Given the description of an element on the screen output the (x, y) to click on. 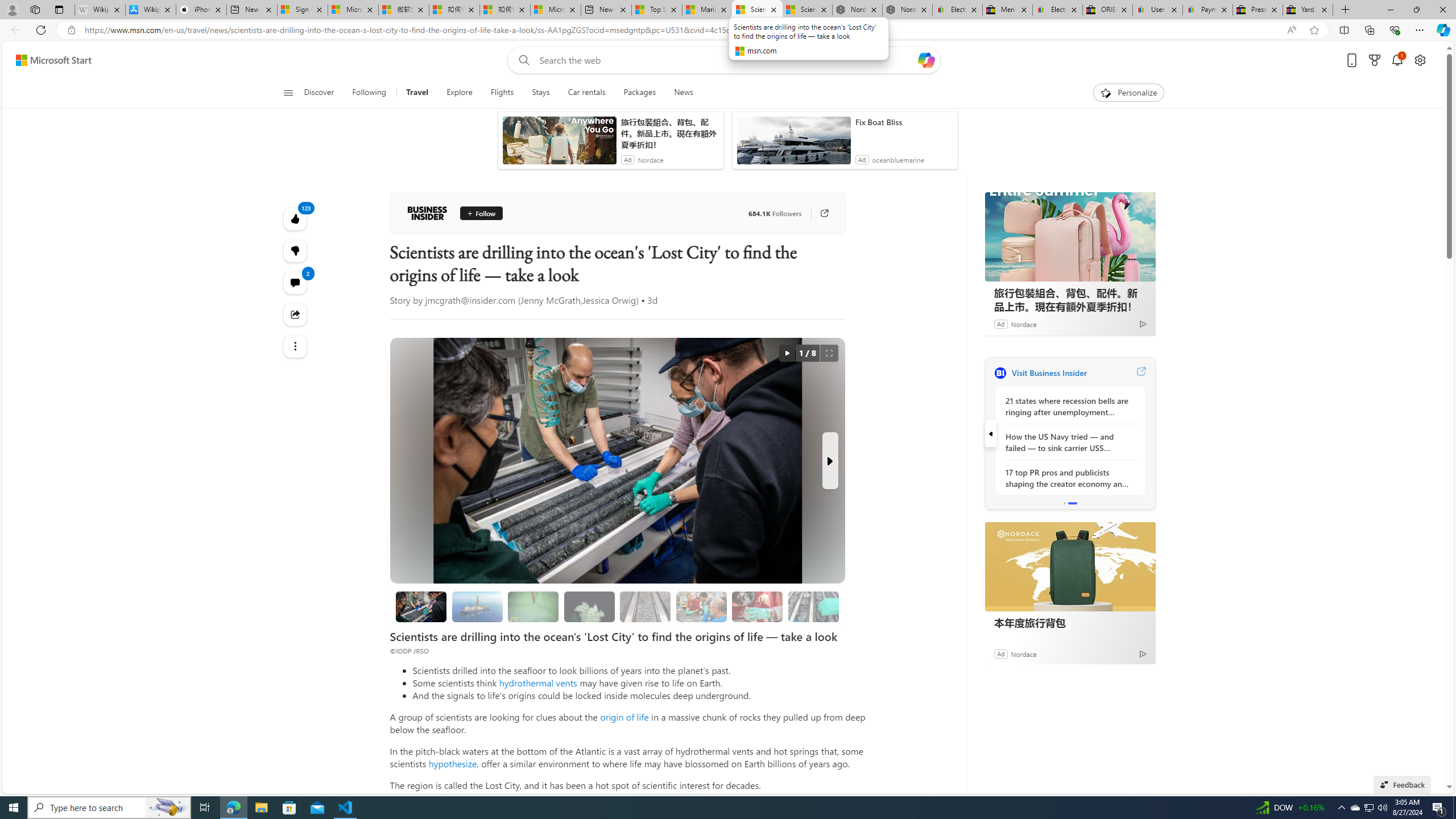
Top Stories - MSN (656, 9)
Packages (639, 92)
Press Room - eBay Inc. (1257, 9)
Business Insider (1000, 372)
Stays (540, 92)
Enter your search term (726, 59)
Fix Boat Bliss (903, 121)
Share this story (295, 314)
Visit Business Insider website (1140, 372)
